Given the description of an element on the screen output the (x, y) to click on. 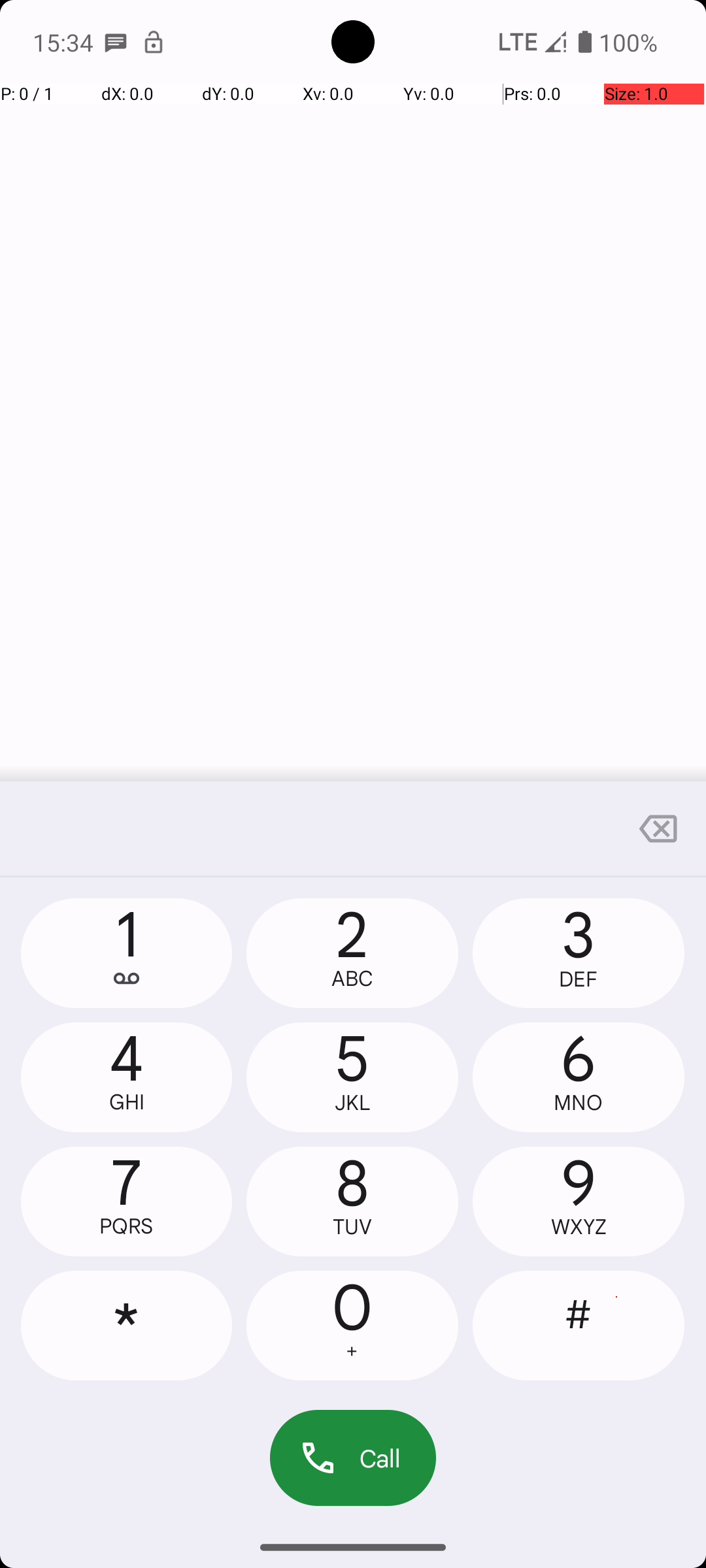
backspace Element type: android.widget.ImageButton (657, 828)
1, Element type: android.widget.FrameLayout (126, 953)
2,ABC Element type: android.widget.FrameLayout (352, 953)
3,DEF Element type: android.widget.FrameLayout (578, 953)
4,GHI Element type: android.widget.FrameLayout (126, 1077)
5,JKL Element type: android.widget.FrameLayout (352, 1077)
6,MNO Element type: android.widget.FrameLayout (578, 1077)
7,PQRS Element type: android.widget.FrameLayout (126, 1201)
8,TUV Element type: android.widget.FrameLayout (352, 1201)
9,WXYZ Element type: android.widget.FrameLayout (578, 1201)
* Element type: android.widget.FrameLayout (126, 1325)
ABC Element type: android.widget.TextView (351, 978)
DEF Element type: android.widget.TextView (578, 978)
GHI Element type: android.widget.TextView (126, 1101)
JKL Element type: android.widget.TextView (351, 1102)
MNO Element type: android.widget.TextView (578, 1102)
PQRS Element type: android.widget.TextView (126, 1225)
TUV Element type: android.widget.TextView (351, 1226)
WXYZ Element type: android.widget.TextView (578, 1226)
+ Element type: android.widget.TextView (351, 1351)
Tasks notification: Connection security Element type: android.widget.ImageView (153, 41)
